Given the description of an element on the screen output the (x, y) to click on. 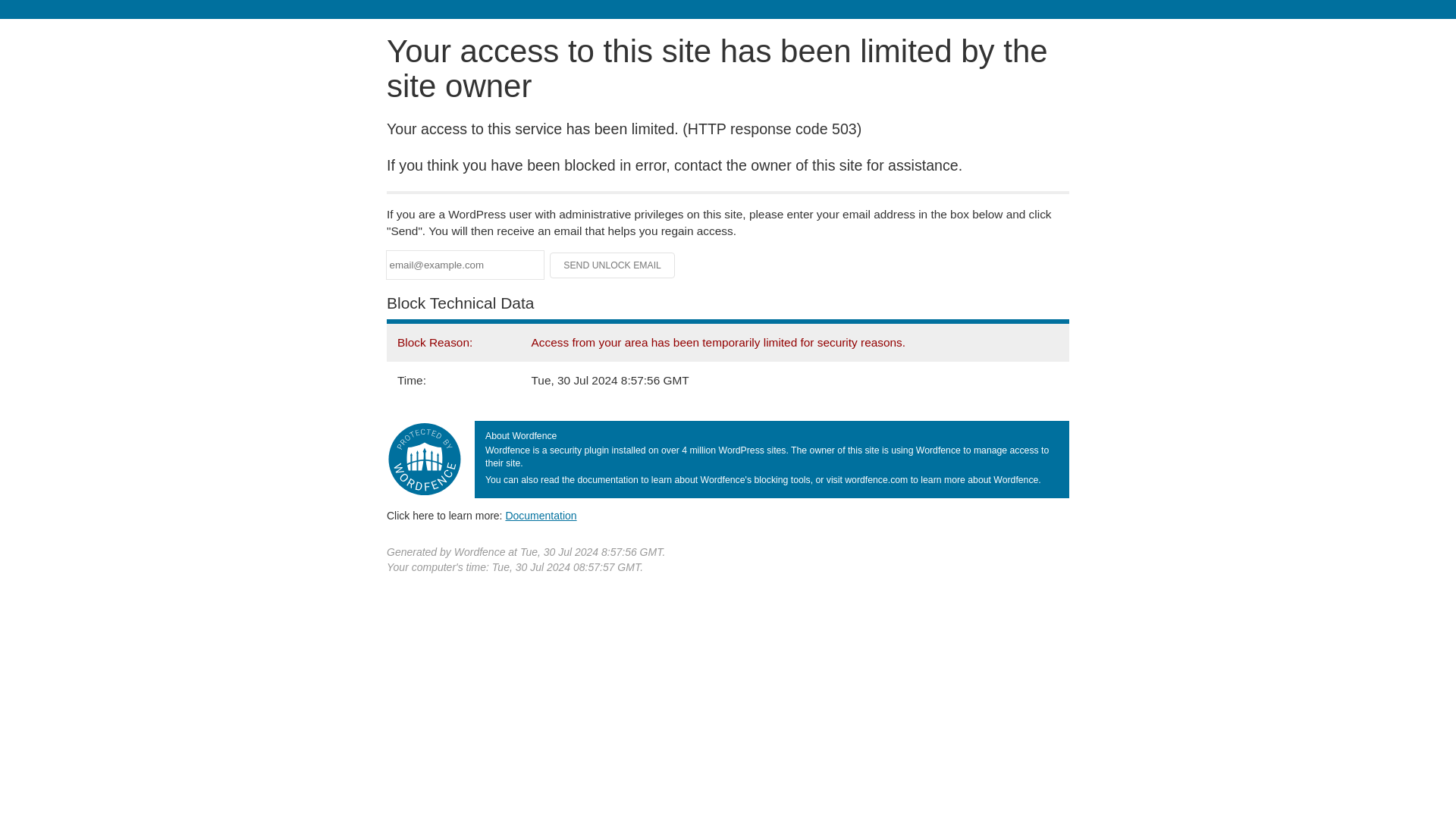
Documentation (540, 515)
Send Unlock Email (612, 265)
Send Unlock Email (612, 265)
